Given the description of an element on the screen output the (x, y) to click on. 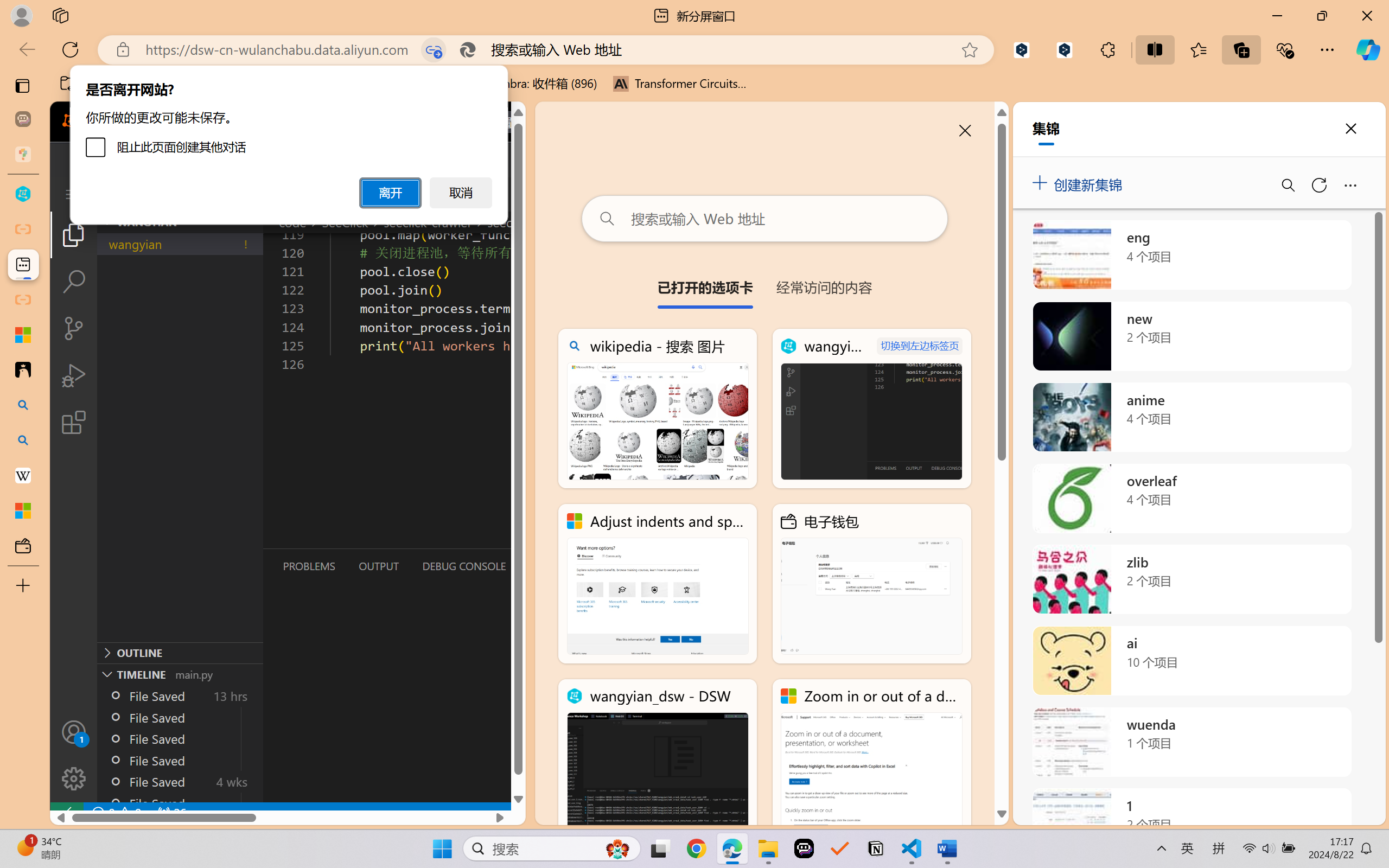
Earth - Wikipedia (22, 475)
Problems (Ctrl+Shift+M) (308, 565)
Adjust indents and spacing - Microsoft Support (22, 334)
